Given the description of an element on the screen output the (x, y) to click on. 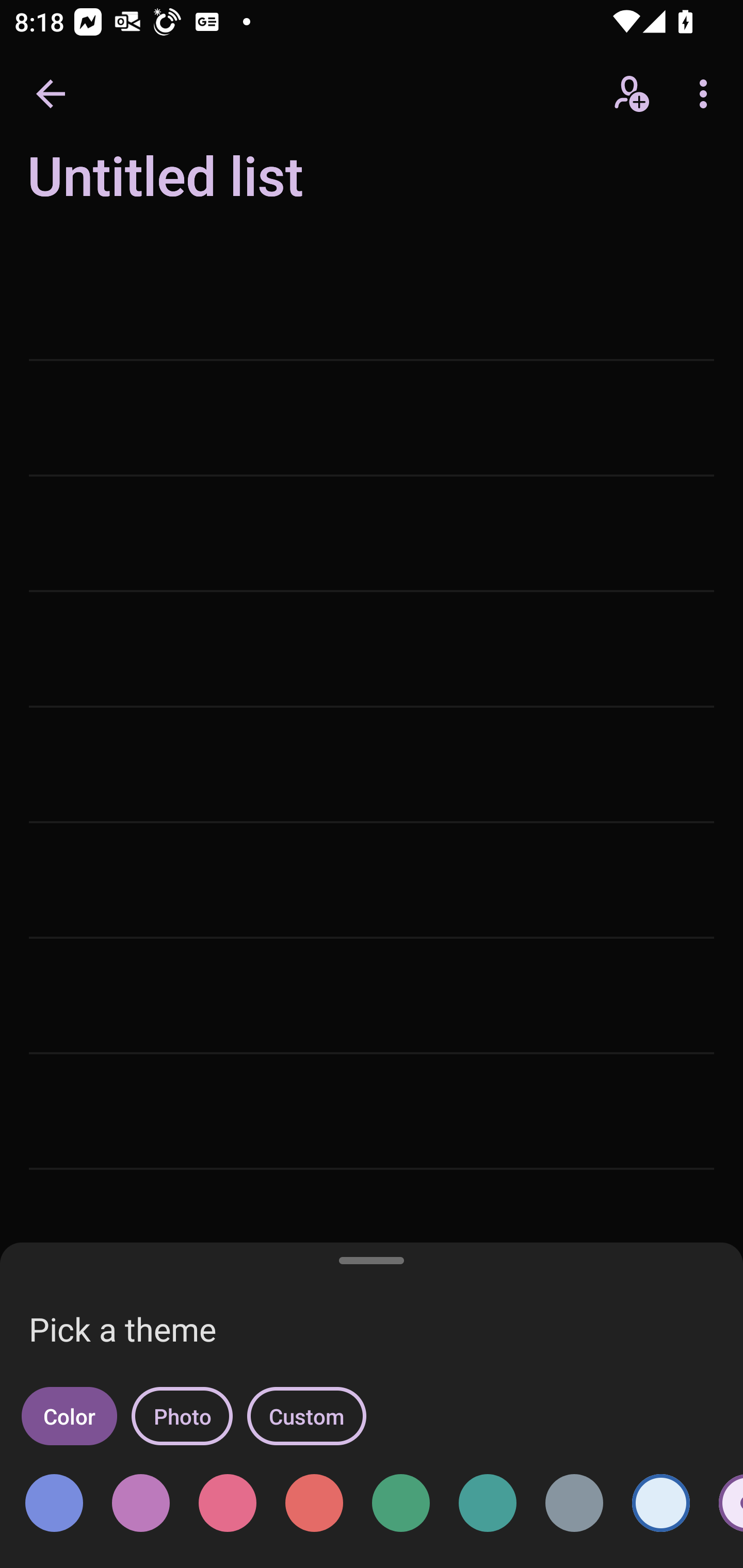
Color Color category (69, 1416)
Photo Photo category (181, 1416)
Custom Custom category (306, 1416)
Dark blue (54, 1502)
Dark purple (140, 1502)
Dark rose (227, 1502)
Dark red (314, 1502)
Dark green (400, 1502)
Dark teal (487, 1502)
Dark grey (574, 1502)
Light blue (660, 1502)
